Given the description of an element on the screen output the (x, y) to click on. 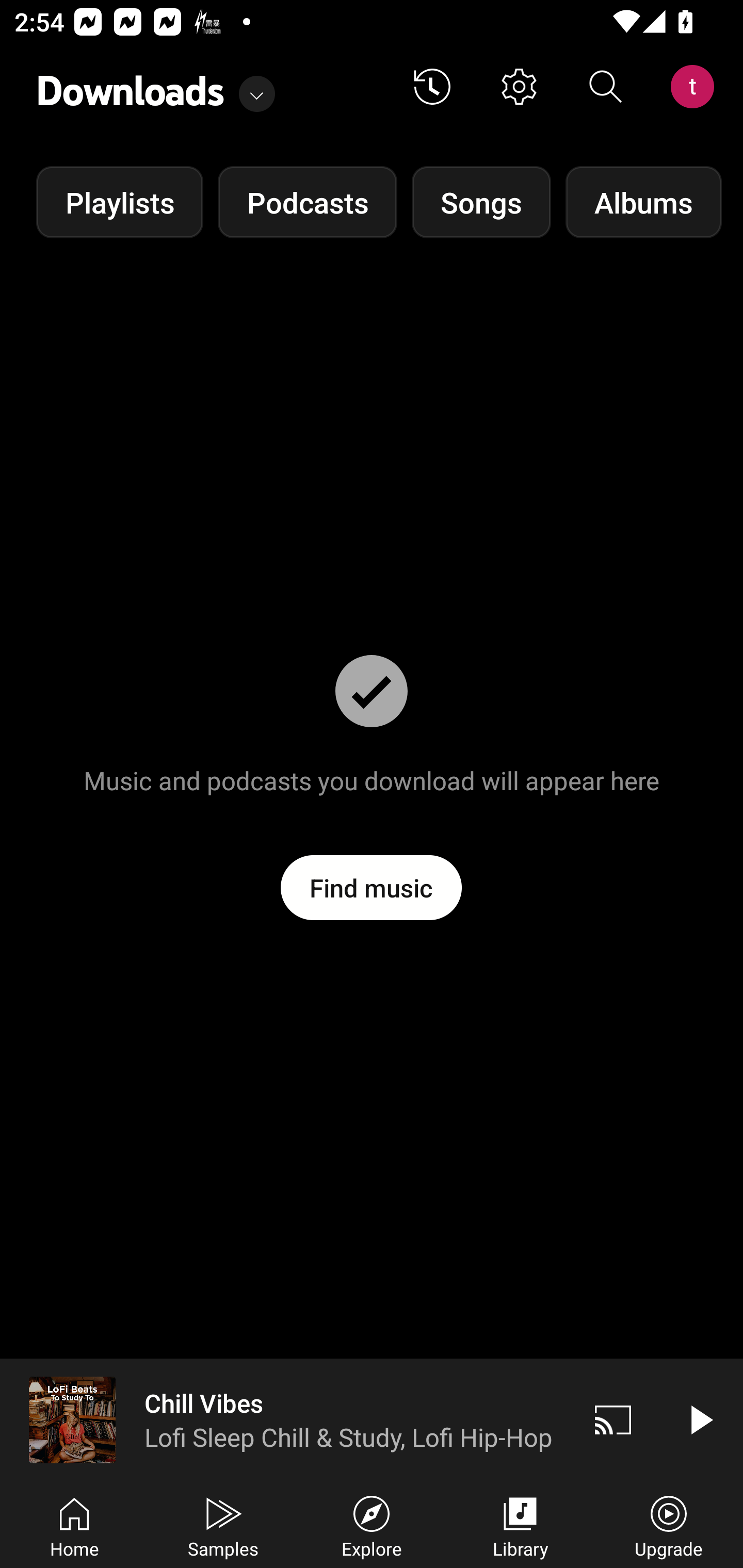
Show downloads selected Downloads (155, 86)
History (432, 86)
Downloads settings (518, 86)
Search (605, 86)
Account (696, 86)
Find music (371, 887)
Cast. Disconnected (612, 1419)
Play video (699, 1419)
Home (74, 1524)
Samples (222, 1524)
Explore (371, 1524)
Upgrade (668, 1524)
